Given the description of an element on the screen output the (x, y) to click on. 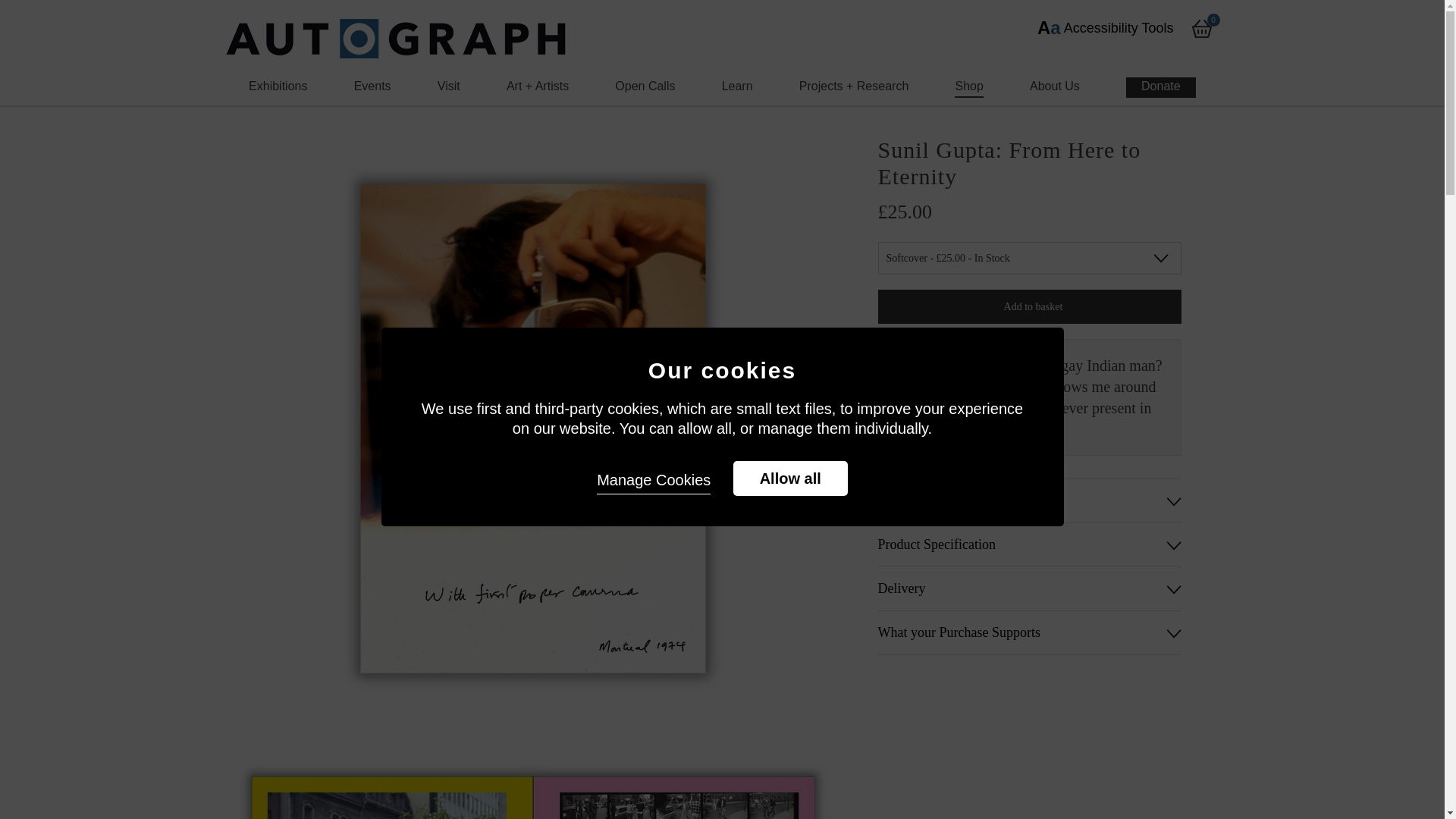
Autograph logo (395, 38)
Open Calls (644, 86)
AaAccessibility Tools (1104, 27)
About Us (1054, 86)
Visit (449, 86)
Shop (968, 86)
Learn (737, 86)
basket (1201, 28)
Exhibitions (277, 86)
Events (372, 86)
